Given the description of an element on the screen output the (x, y) to click on. 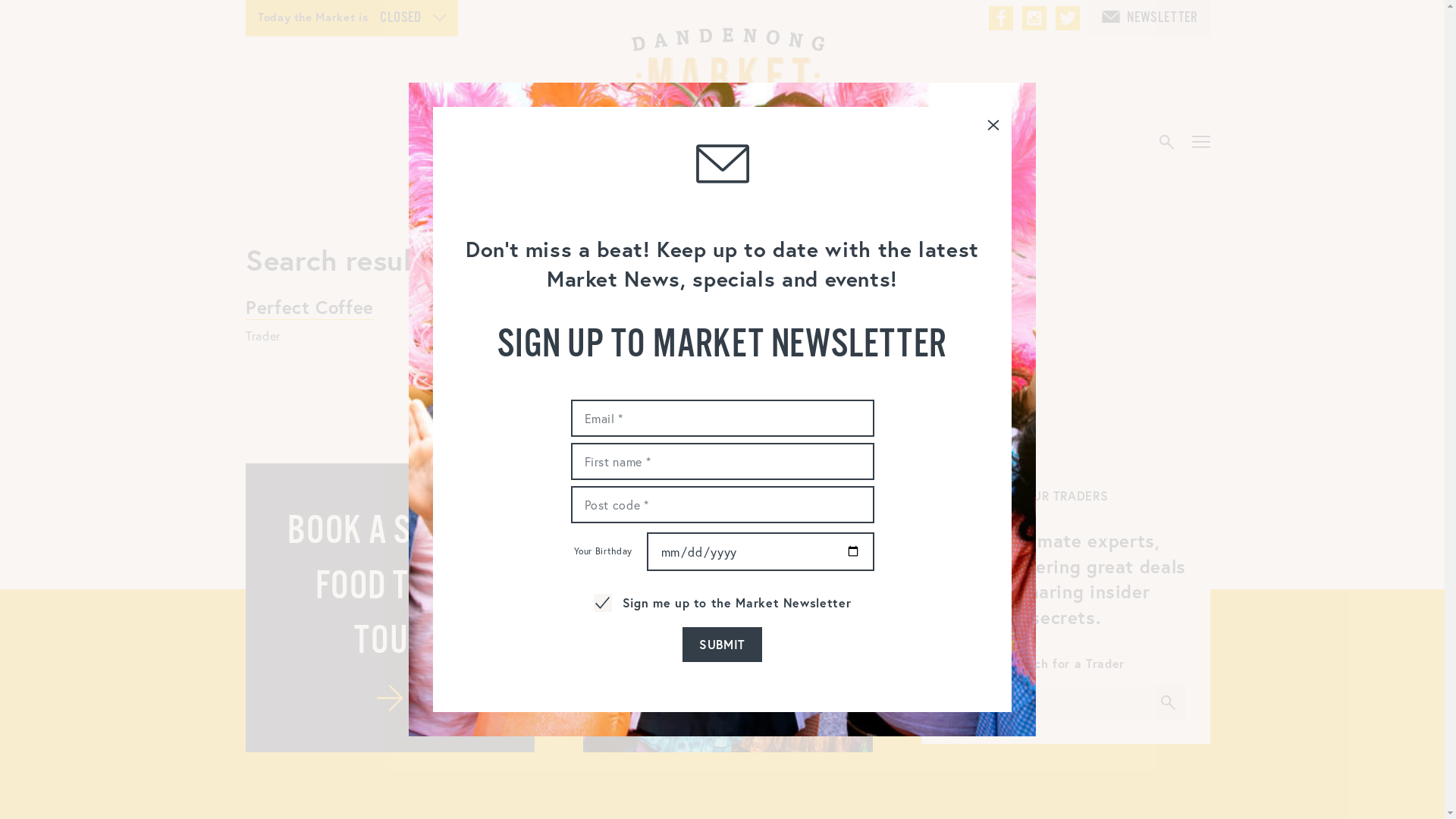
News Element type: text (789, 142)
BOOK A STREET FOOD TOUR TOUR Element type: text (389, 607)
Mail iconNEWSLETTER Element type: text (1149, 18)
Visit Element type: text (717, 142)
Today the Market isCLOSEDArrow down Element type: text (351, 18)
Perfect Coffee Element type: text (309, 306)
Market Specials Element type: text (607, 142)
TRADER APPLICATIONS Element type: text (727, 607)
SUBMIT Element type: text (722, 644)
Traders Element type: text (872, 142)
Recipes Element type: text (962, 142)
Events Element type: text (488, 142)
